Given the description of an element on the screen output the (x, y) to click on. 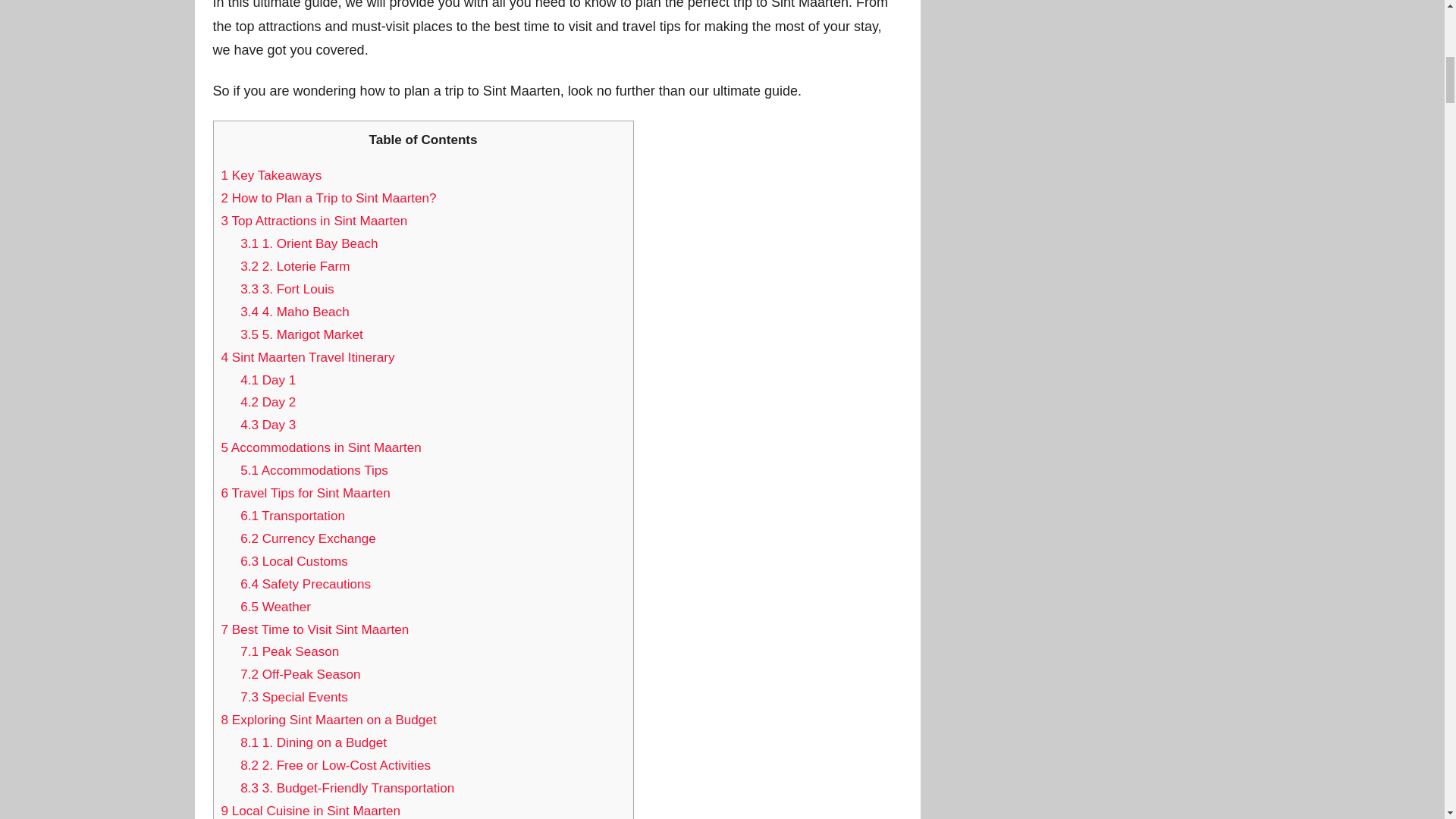
3.4 4. Maho Beach (294, 311)
4.1 Day 1 (267, 380)
7.3 Special Events (293, 697)
7.1 Peak Season (289, 651)
6 Travel Tips for Sint Maarten (305, 493)
4 Sint Maarten Travel Itinerary (307, 357)
7 Best Time to Visit Sint Maarten (315, 629)
5.1 Accommodations Tips (314, 470)
4.3 Day 3 (267, 424)
3.1 1. Orient Bay Beach (309, 243)
6.5 Weather (275, 606)
6.1 Transportation (292, 515)
8 Exploring Sint Maarten on a Budget (328, 719)
3 Top Attractions in Sint Maarten (314, 220)
5 Accommodations in Sint Maarten (321, 447)
